Given the description of an element on the screen output the (x, y) to click on. 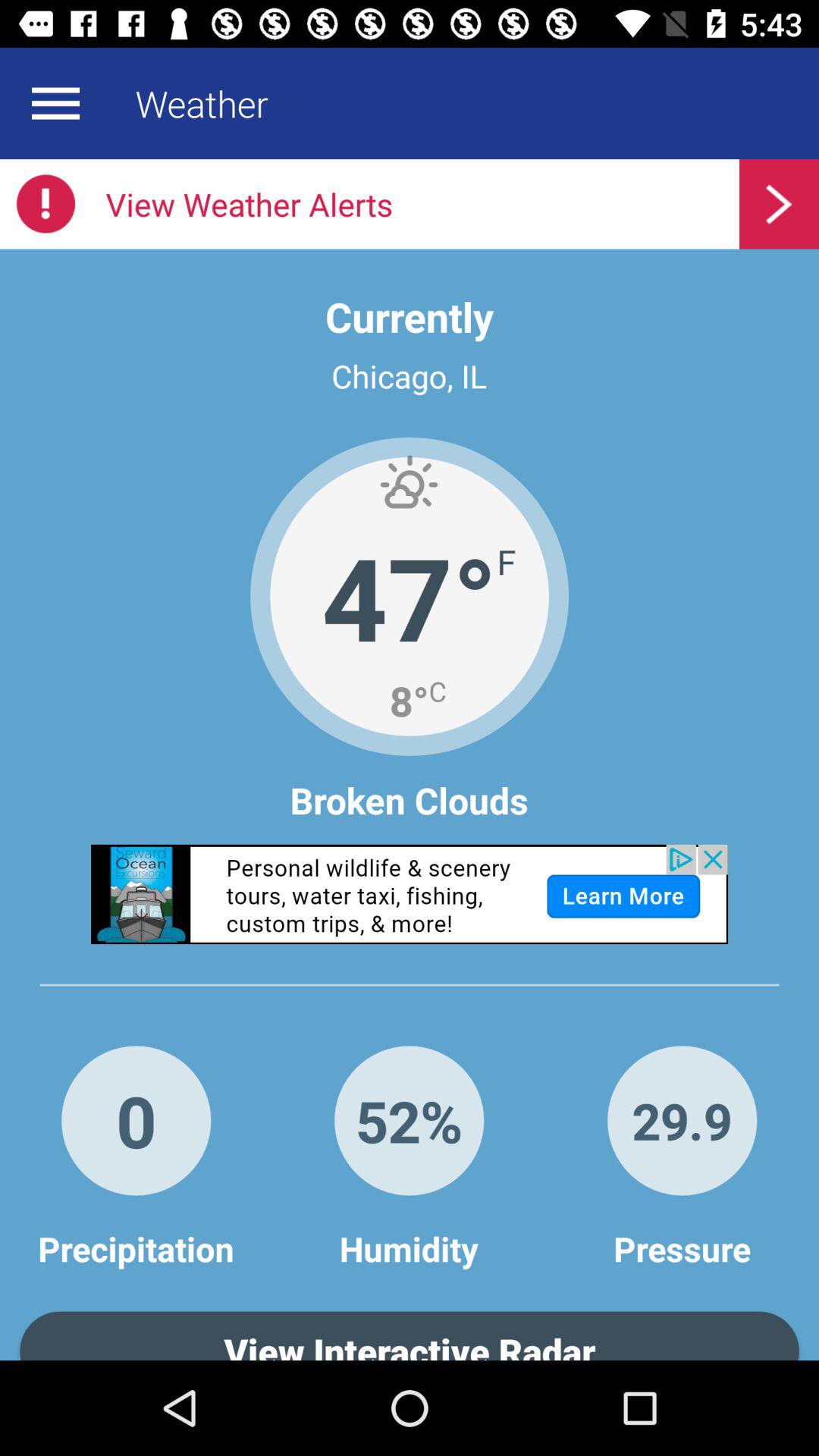
click on the advertisement (409, 894)
